Given the description of an element on the screen output the (x, y) to click on. 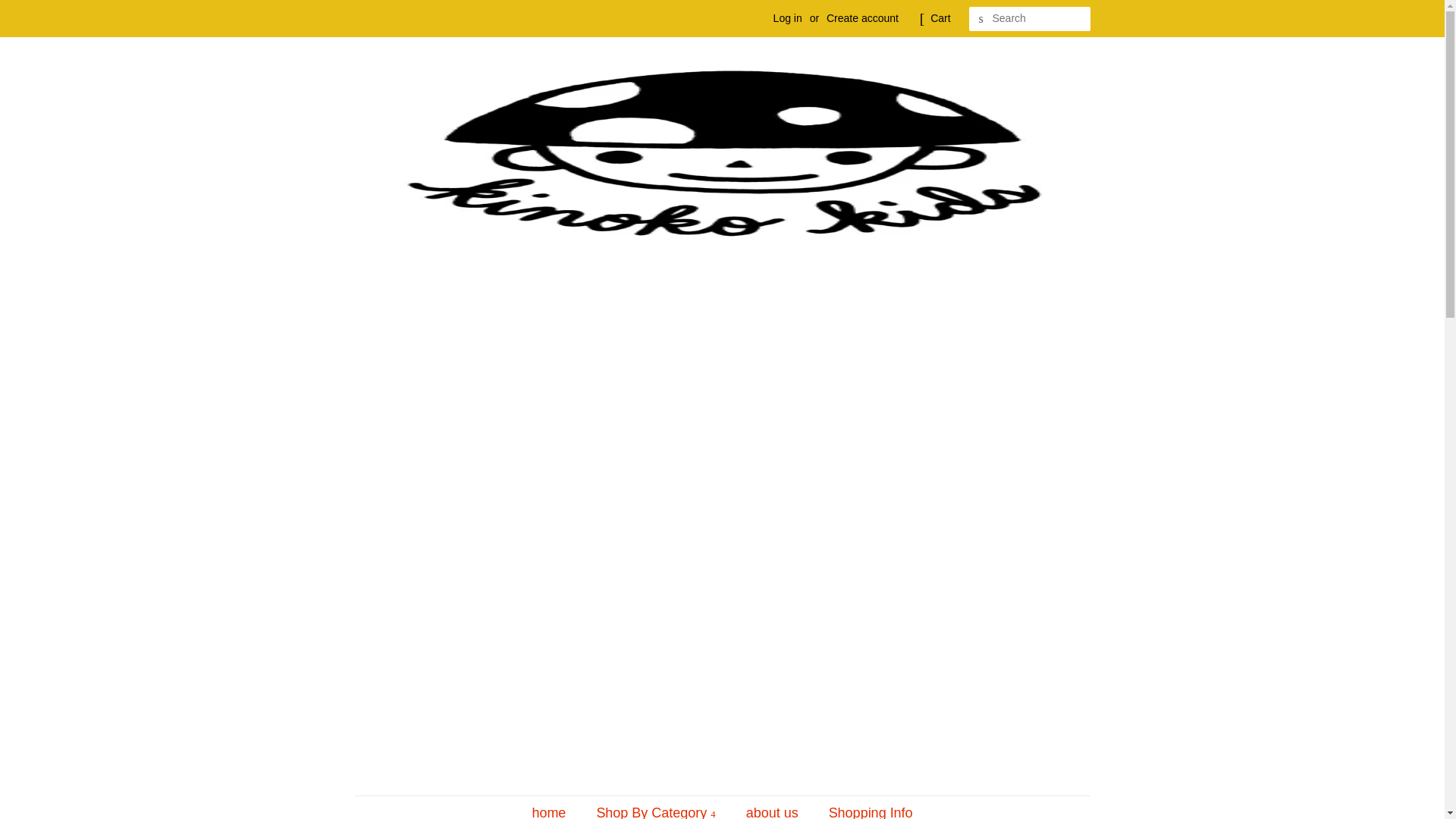
Create account (862, 18)
Log in (787, 18)
Cart (940, 18)
Search (980, 18)
